Given the description of an element on the screen output the (x, y) to click on. 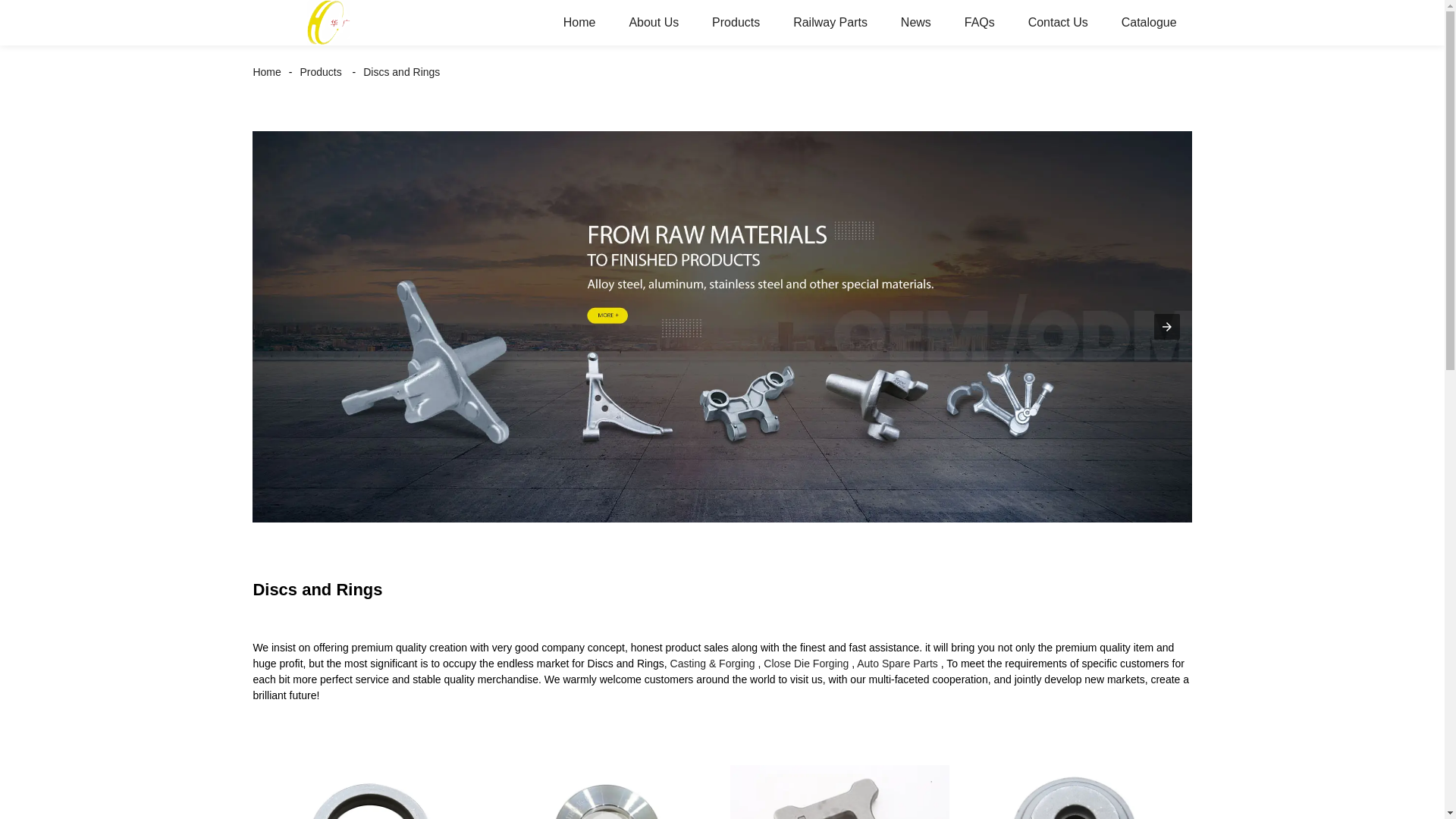
About Us (653, 22)
News (915, 22)
Railway Parts (829, 22)
Auto Spare Parts (897, 663)
Contact Us (1058, 22)
Home (269, 71)
FAQs (979, 22)
Catalogue (1149, 22)
Close Die Forging (805, 663)
Products (320, 71)
